Given the description of an element on the screen output the (x, y) to click on. 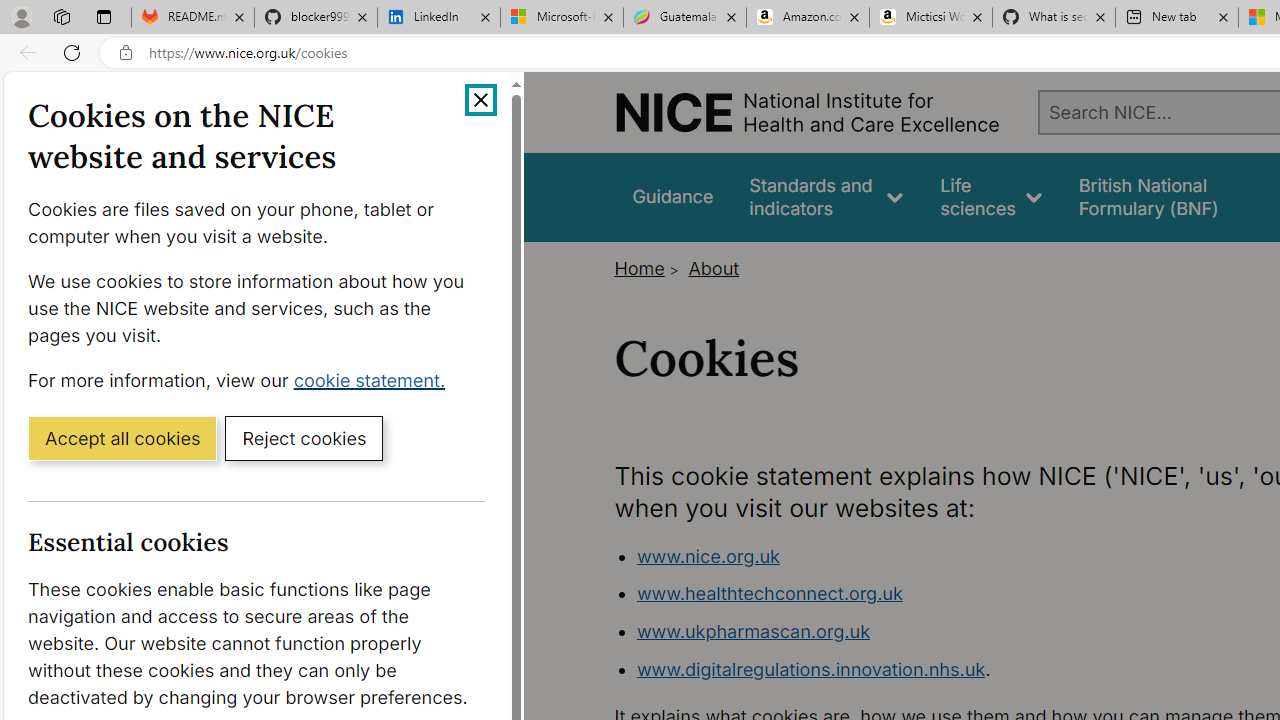
About (713, 268)
www.digitalregulations.innovation.nhs.uk (810, 668)
Guidance (673, 196)
